Given the description of an element on the screen output the (x, y) to click on. 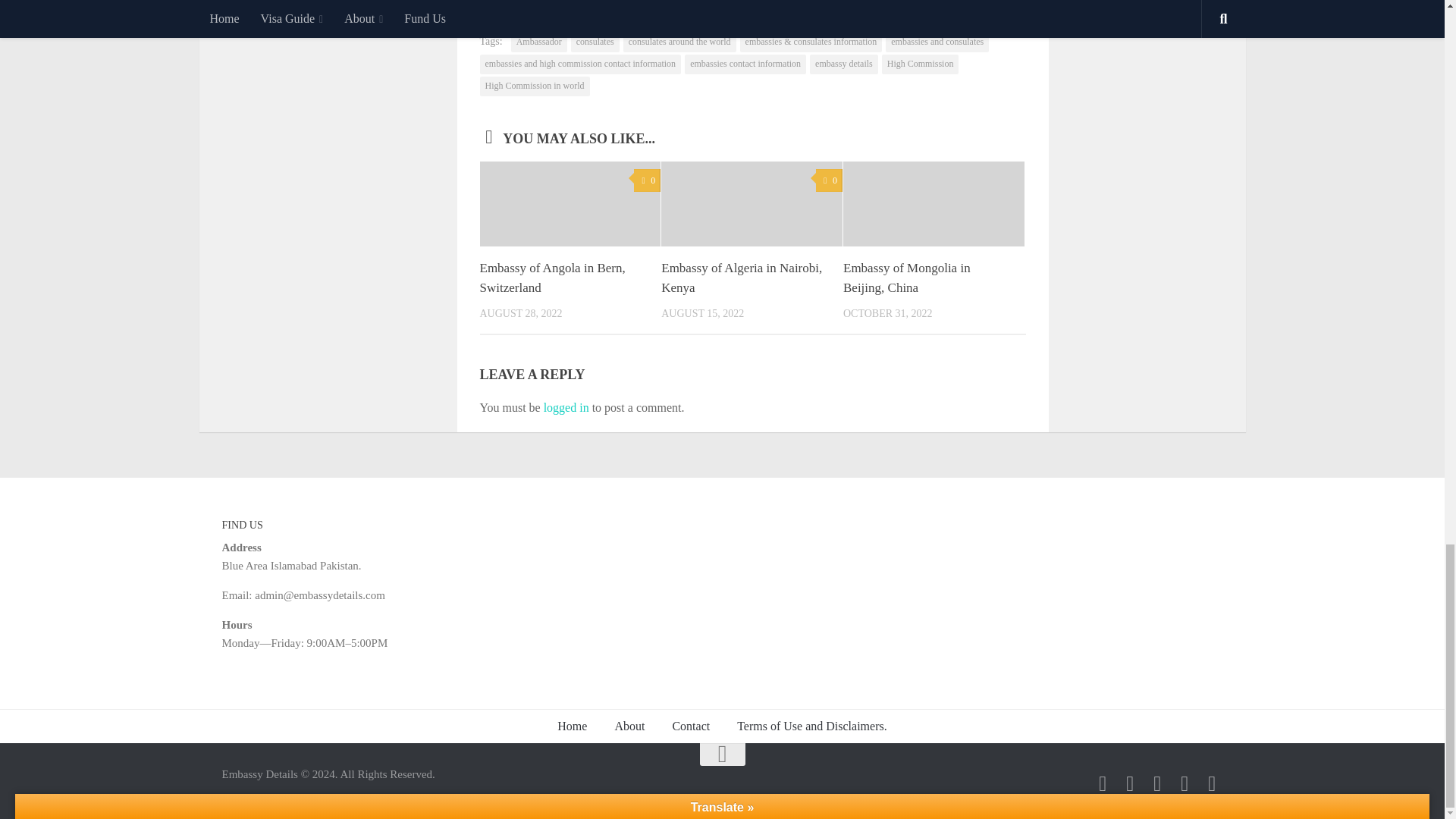
consulates around the world (679, 42)
consulates (595, 42)
Ambassador (539, 42)
